Given the description of an element on the screen output the (x, y) to click on. 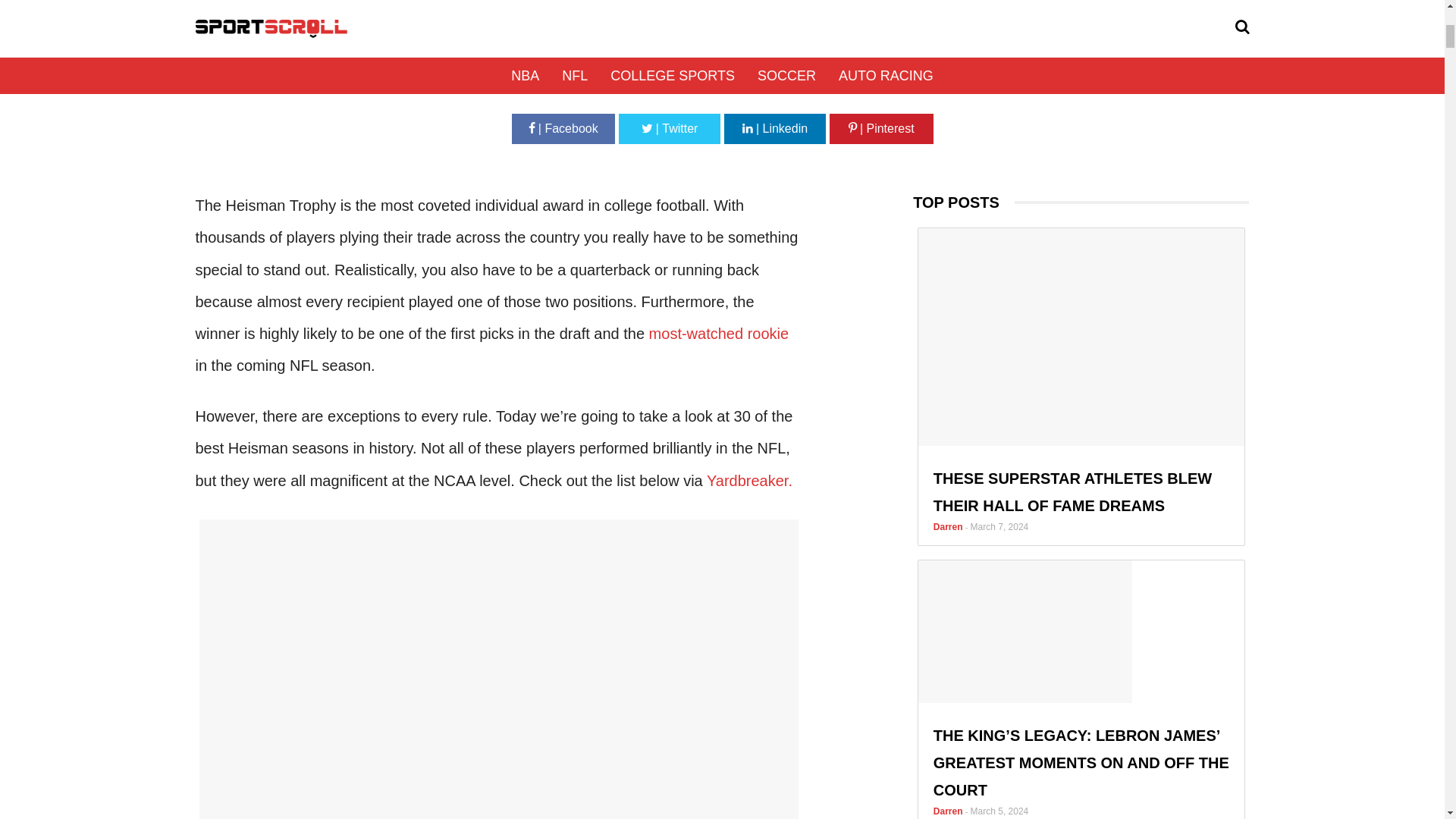
most-watched rookie (719, 333)
Yardbreaker. (749, 480)
Darren (667, 73)
